Given the description of an element on the screen output the (x, y) to click on. 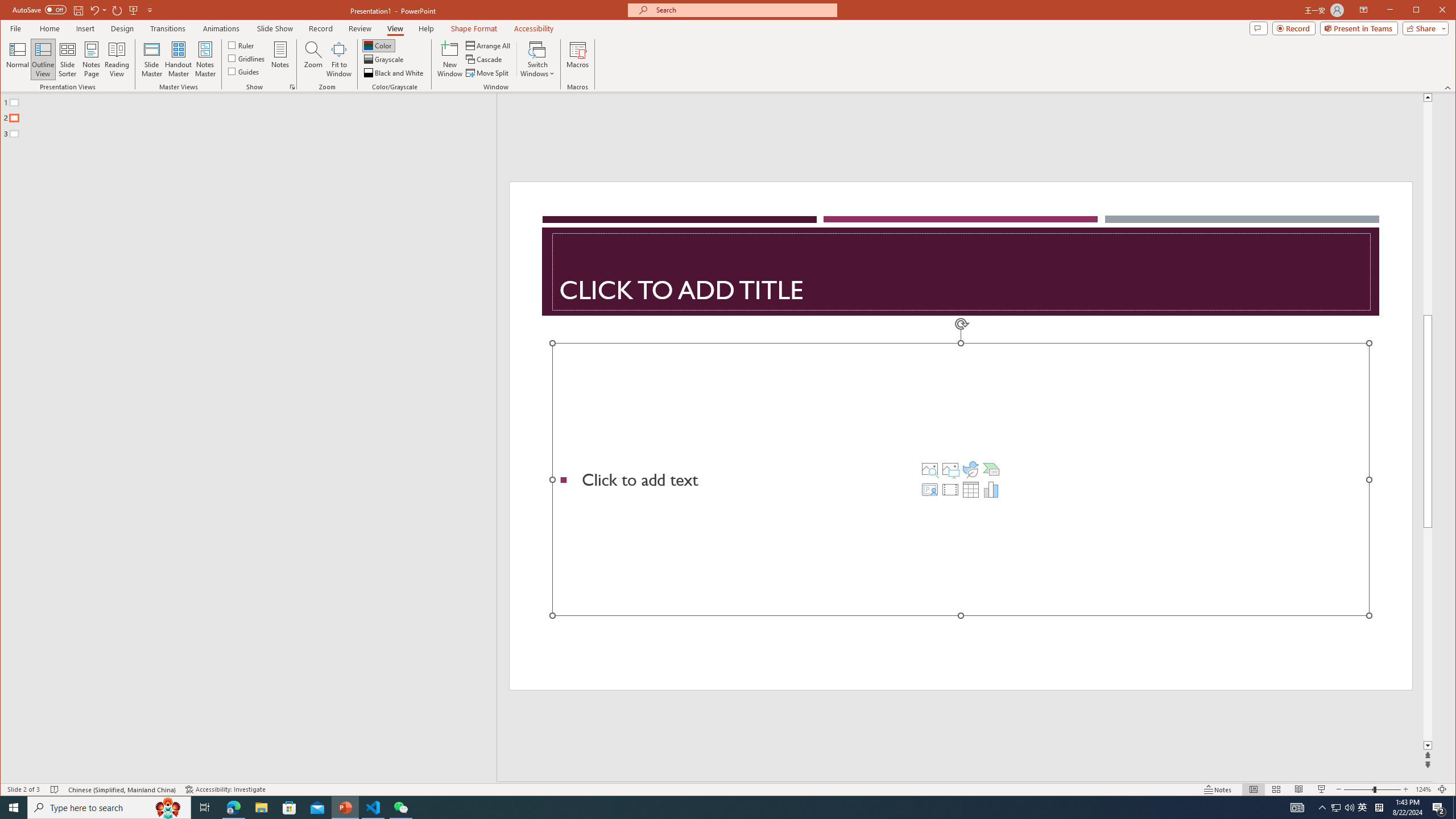
Animations (221, 28)
Customize Quick Access Toolbar (150, 9)
File Explorer (261, 807)
Arrange All (488, 45)
Zoom Out (1358, 789)
Grayscale (384, 59)
Shape Format (473, 28)
View (395, 28)
Move Split (488, 72)
Undo (98, 9)
Microsoft Store (289, 807)
Black and White (394, 72)
Guides (243, 70)
Notes  (1217, 789)
